Given the description of an element on the screen output the (x, y) to click on. 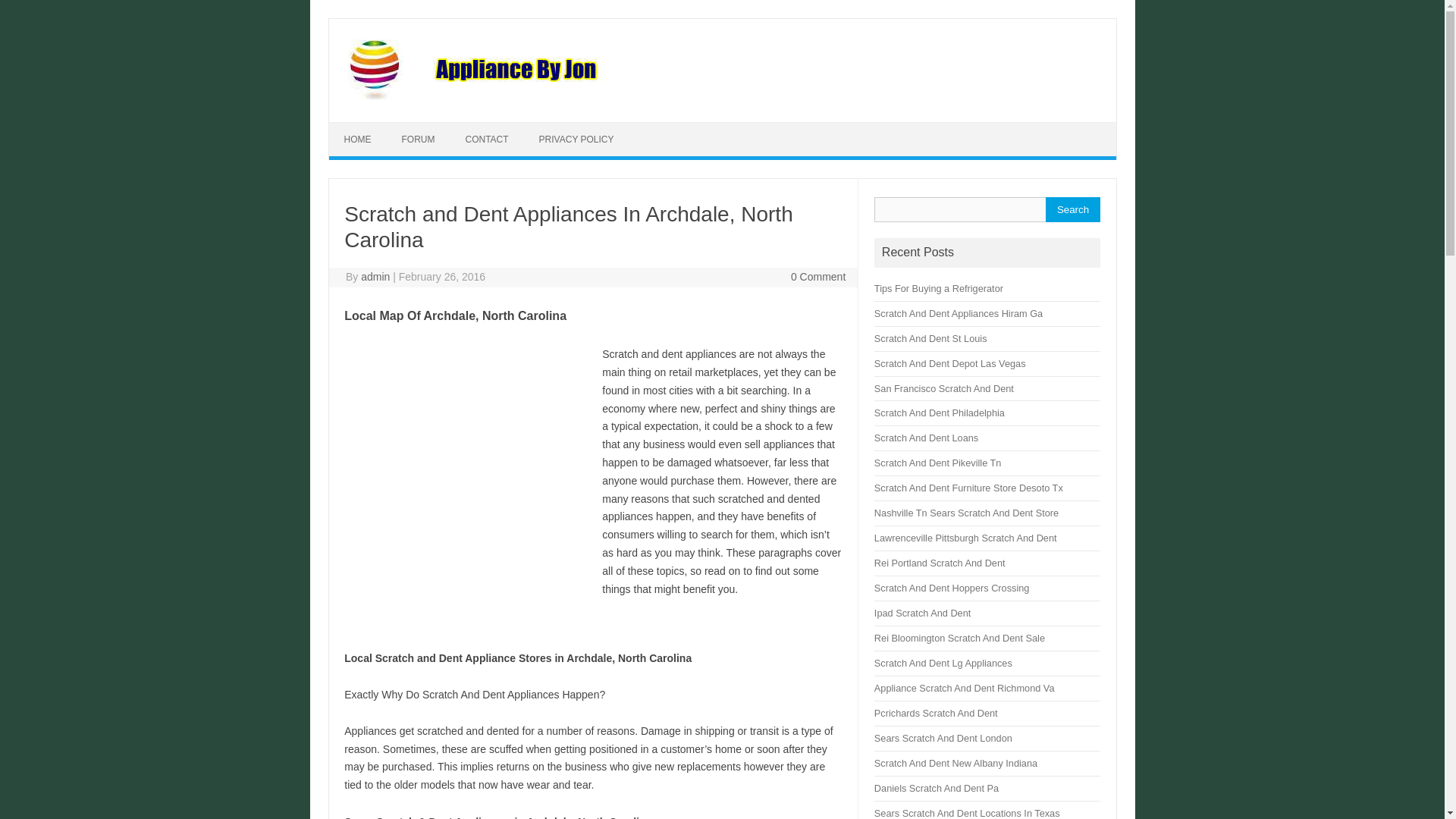
Scratch And Dent New Albany Indiana (955, 763)
Posts by admin (375, 276)
Search (1072, 209)
PRIVACY POLICY (576, 139)
Scratch And Dent Depot Las Vegas (950, 363)
Scratch And Dent Lg Appliances (943, 663)
Tips For Buying a Refrigerator (939, 288)
CONTACT (486, 139)
Scratch And Dent Loans (926, 437)
Lawrenceville Pittsburgh Scratch And Dent (966, 537)
Daniels Scratch And Dent Pa (936, 787)
Search (1072, 209)
0 Comment (817, 276)
Appliance Scratch And Dent Richmond Va (964, 687)
